Given the description of an element on the screen output the (x, y) to click on. 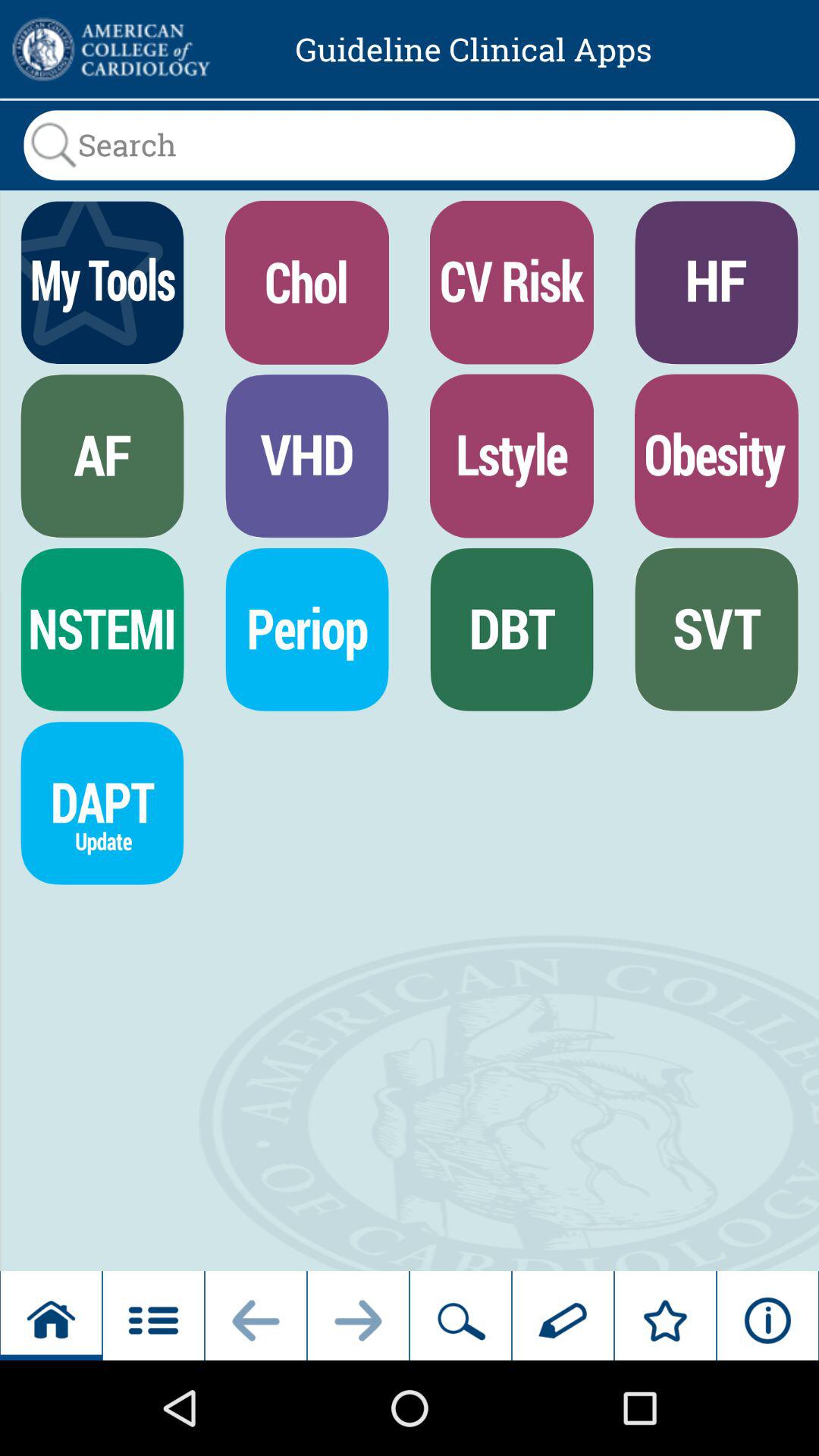
college logo (109, 49)
